Given the description of an element on the screen output the (x, y) to click on. 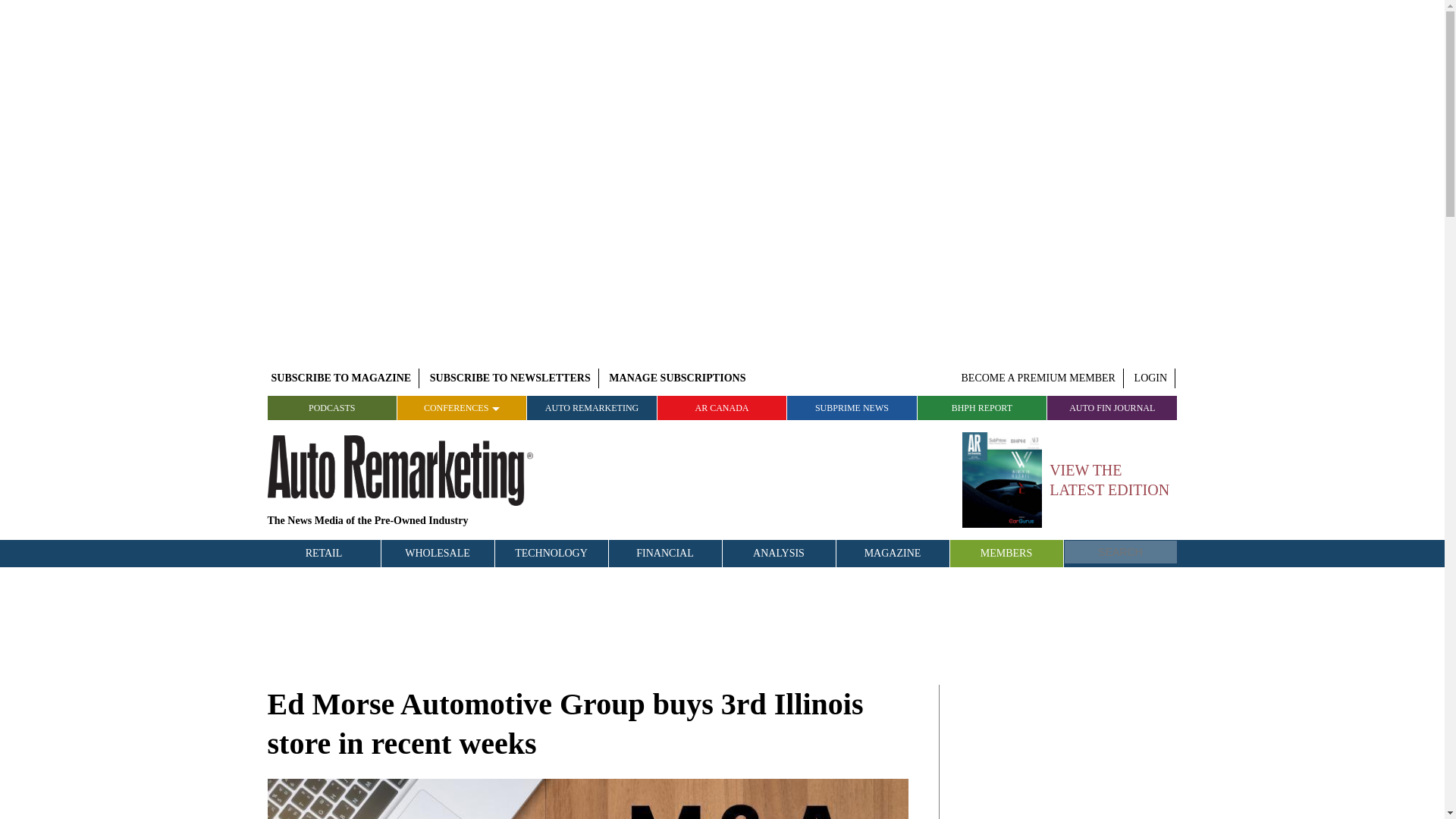
SUBPRIME NEWS (852, 407)
CONFERENCES (462, 407)
MANAGE SUBSCRIPTIONS (677, 378)
3rd party ad content (1063, 751)
AR CANADA (722, 407)
LOGIN (1151, 378)
SUBSCRIBE TO MAGAZINE (340, 378)
3rd party ad content (722, 623)
BECOME A PREMIUM MEMBER (1038, 378)
TECHNOLOGY (551, 553)
AUTO REMARKETING (591, 407)
SUBSCRIBE TO NEWSLETTERS (510, 378)
BHPH REPORT (981, 407)
AUTO FIN JOURNAL (1111, 407)
RETAIL (323, 553)
